Given the description of an element on the screen output the (x, y) to click on. 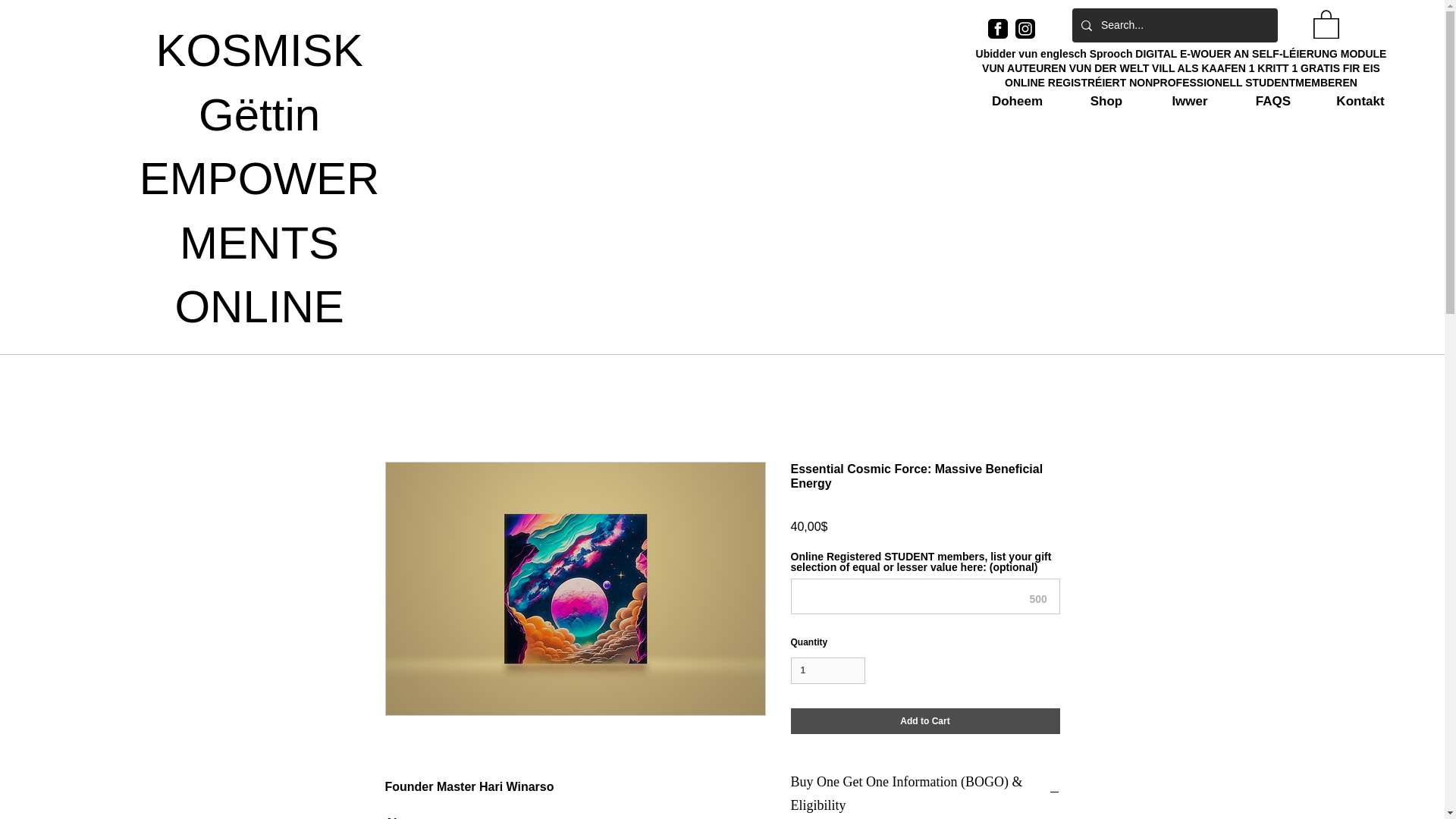
1 (827, 670)
Add to Cart (924, 720)
FAQS (1272, 101)
Kontakt (1360, 101)
Doheem (1017, 101)
